Given the description of an element on the screen output the (x, y) to click on. 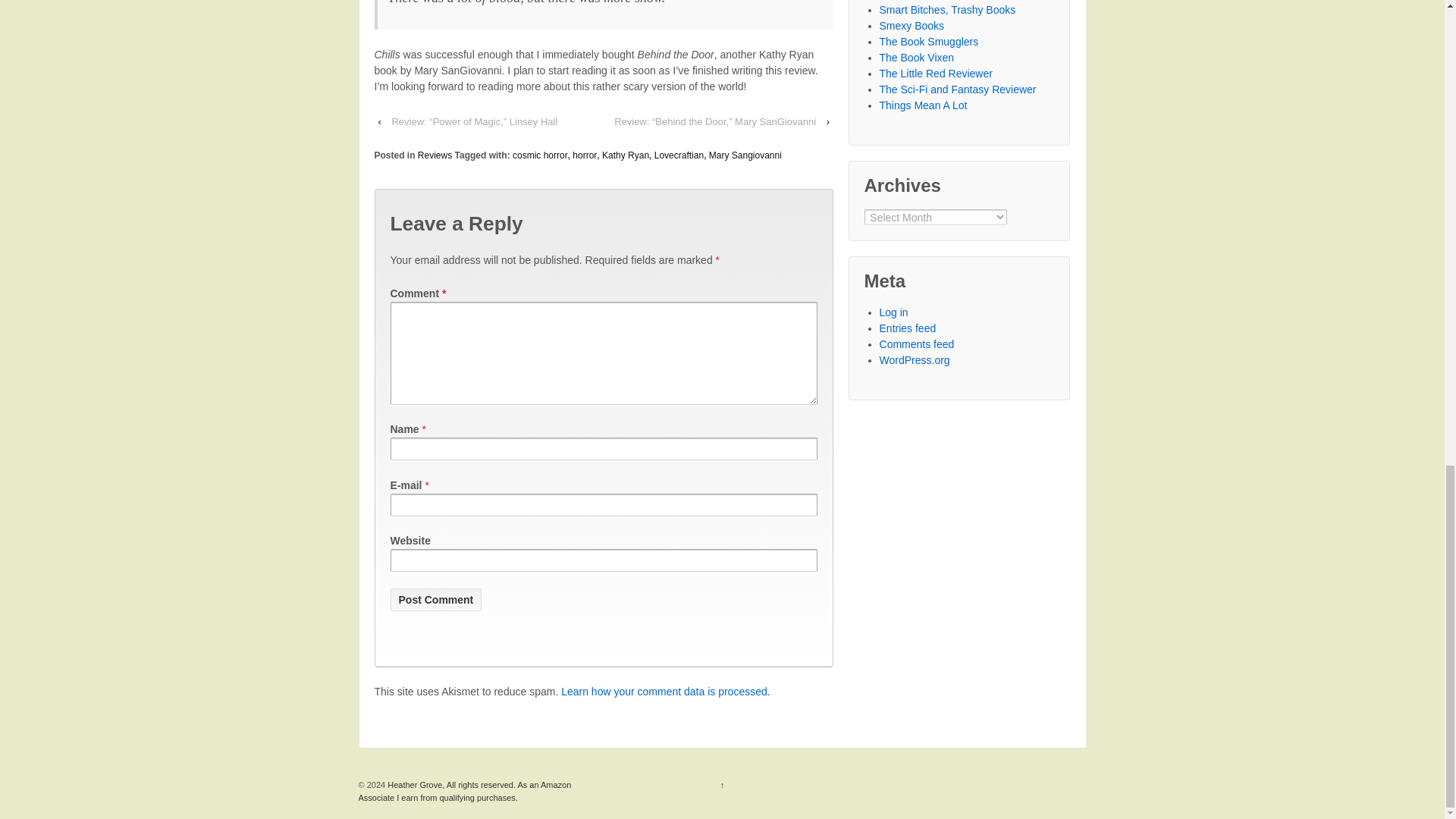
Post Comment (435, 599)
horror (584, 154)
Lovecraftian (678, 154)
Kathy Ryan (625, 154)
Reviews (434, 154)
cosmic horror (539, 154)
Post Comment (435, 599)
Learn how your comment data is processed (663, 691)
Mary Sangiovanni (745, 154)
